Given the description of an element on the screen output the (x, y) to click on. 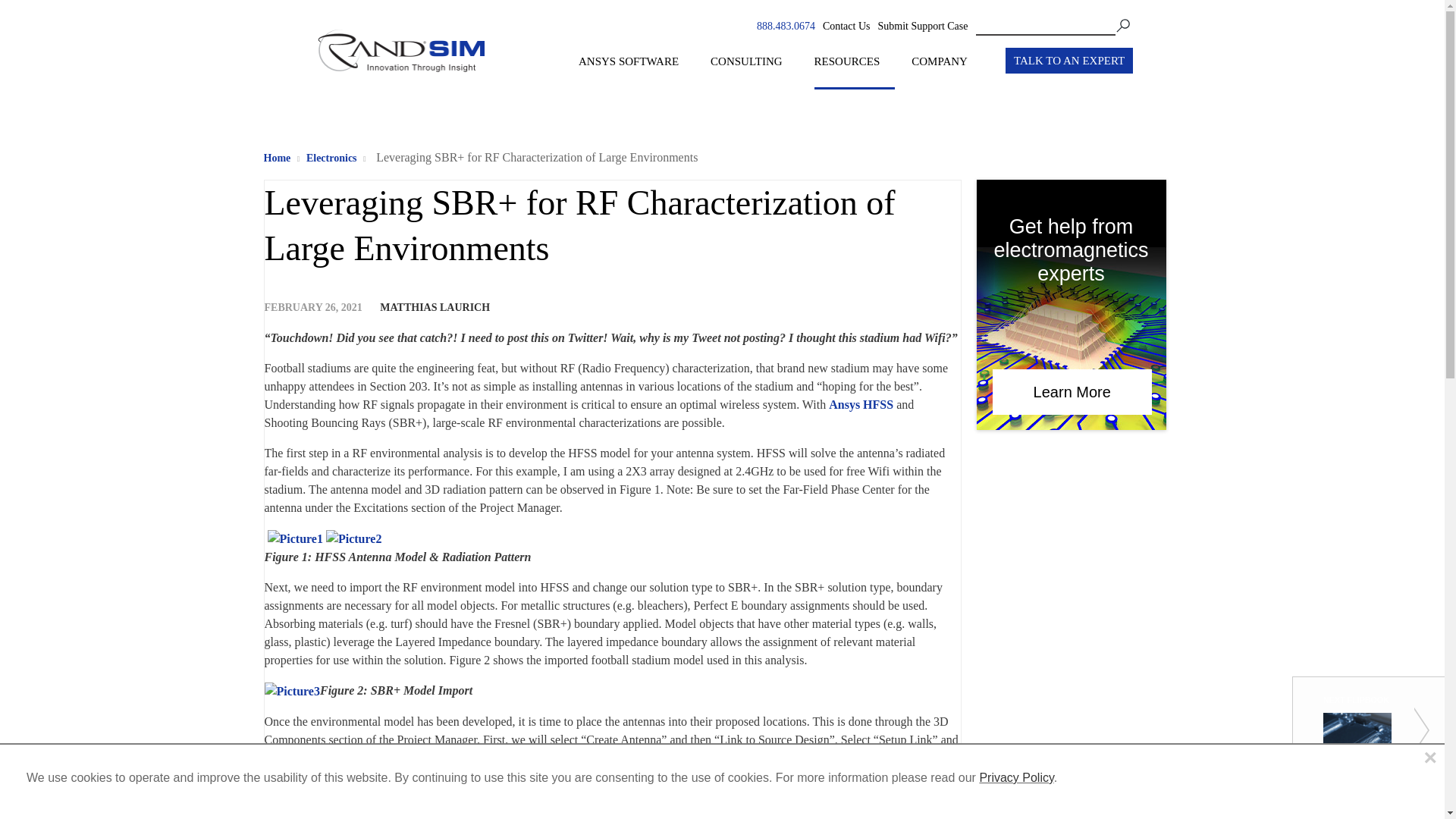
Submit Support Case (922, 26)
COMPANY (946, 70)
Picture2 (353, 538)
Rand SIM (400, 82)
CONSULTING (753, 70)
Search Site (1053, 25)
Picture3 (290, 691)
888-483-0674 (786, 25)
888.483.0674 (786, 26)
Technical Support (922, 25)
RESOURCES (854, 70)
ANSYS SOFTWARE (636, 70)
Contact Us (846, 25)
Contact Us (846, 26)
Picture1 (293, 538)
